Given the description of an element on the screen output the (x, y) to click on. 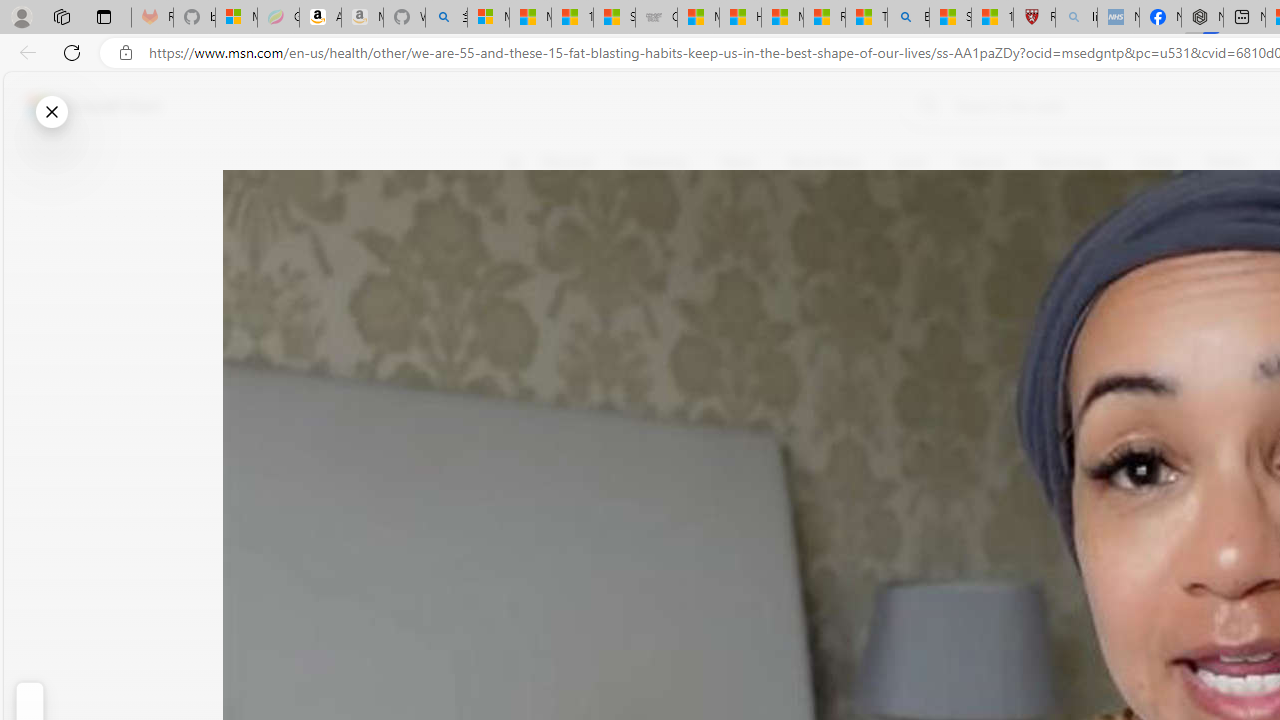
Science (980, 162)
Class: button-glyph (513, 162)
Technology (1071, 162)
World News (824, 162)
